Given the description of an element on the screen output the (x, y) to click on. 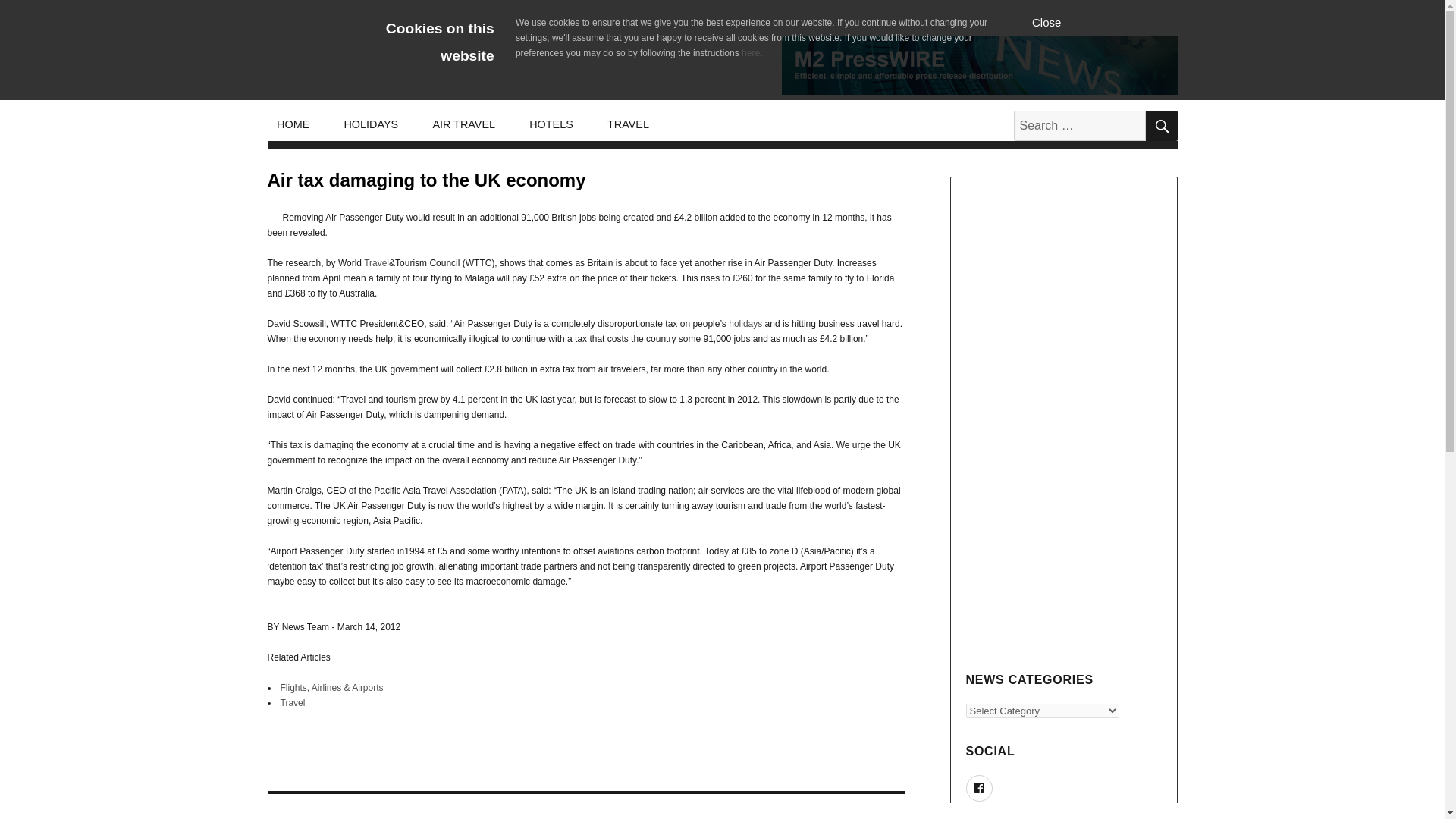
holidays (745, 323)
HOLIDAYS (370, 124)
Travel (293, 702)
AIR TRAVEL (464, 124)
Close (1046, 21)
Travel (376, 262)
TRAVEL (627, 124)
HOME (292, 124)
SEARCH (1160, 125)
HOTELS (551, 124)
